Given the description of an element on the screen output the (x, y) to click on. 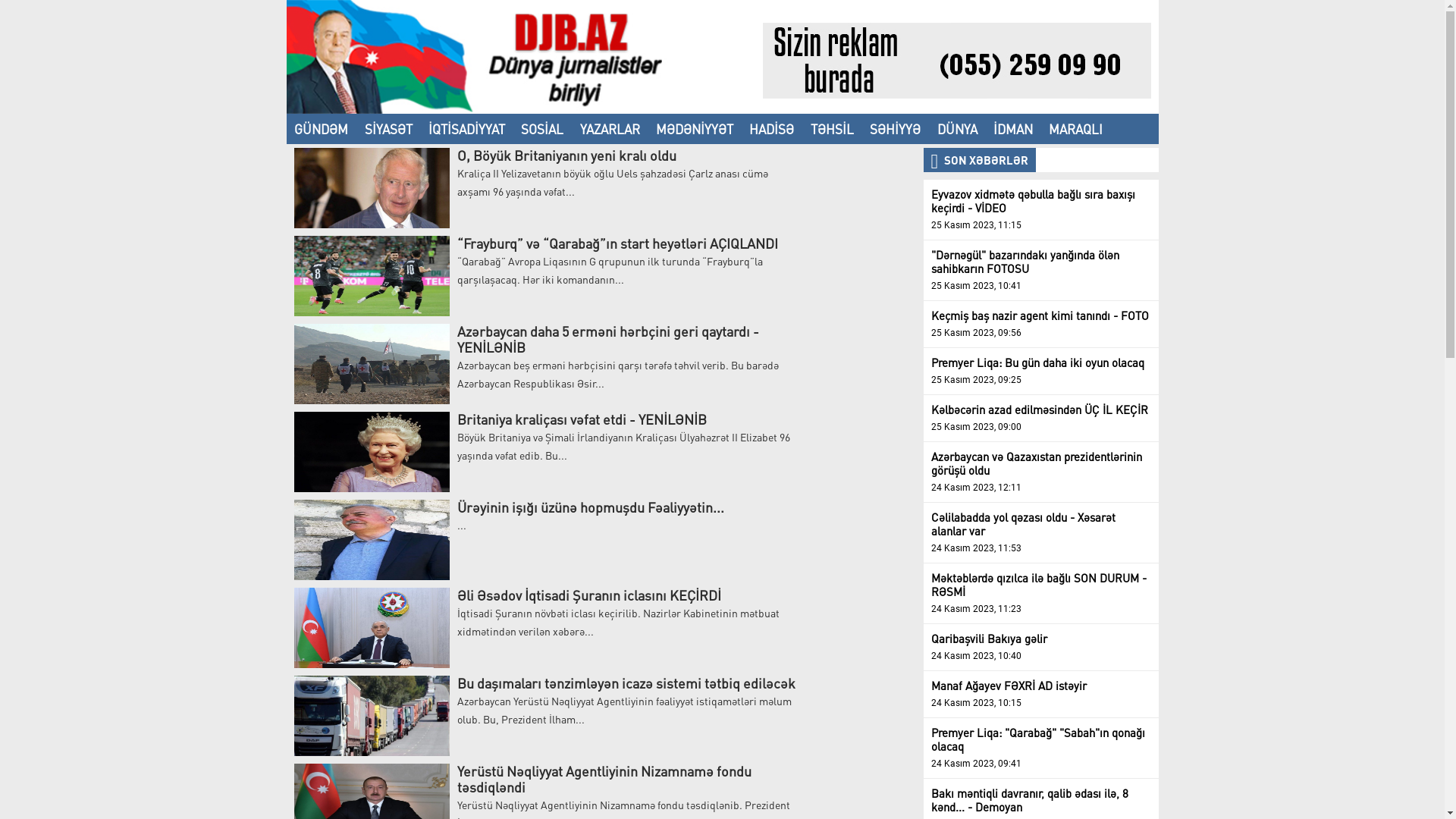
MARAQLI Element type: text (1075, 128)
YAZARLAR Element type: text (609, 128)
